Given the description of an element on the screen output the (x, y) to click on. 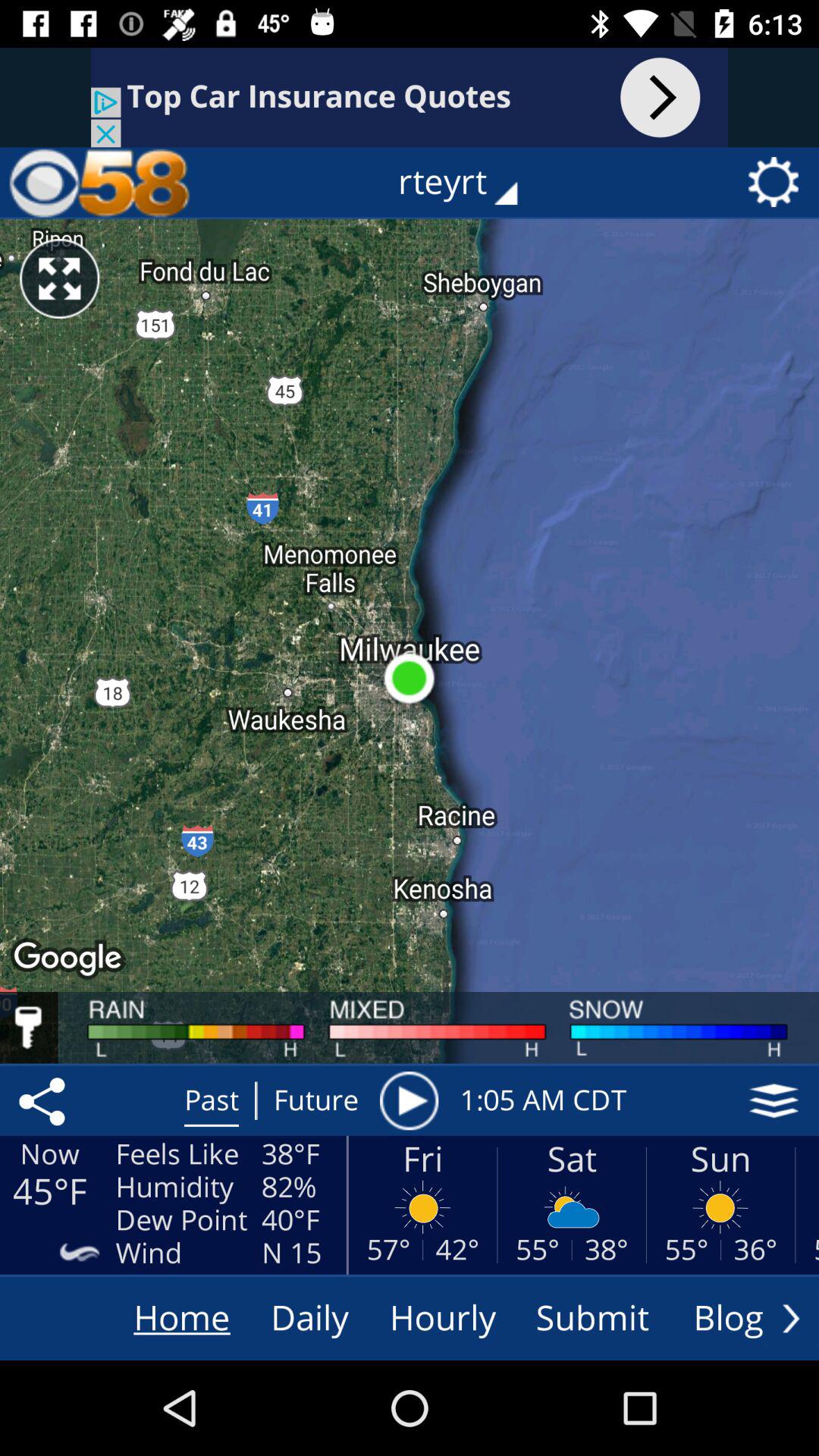
press the item next to feels like item (44, 1100)
